Given the description of an element on the screen output the (x, y) to click on. 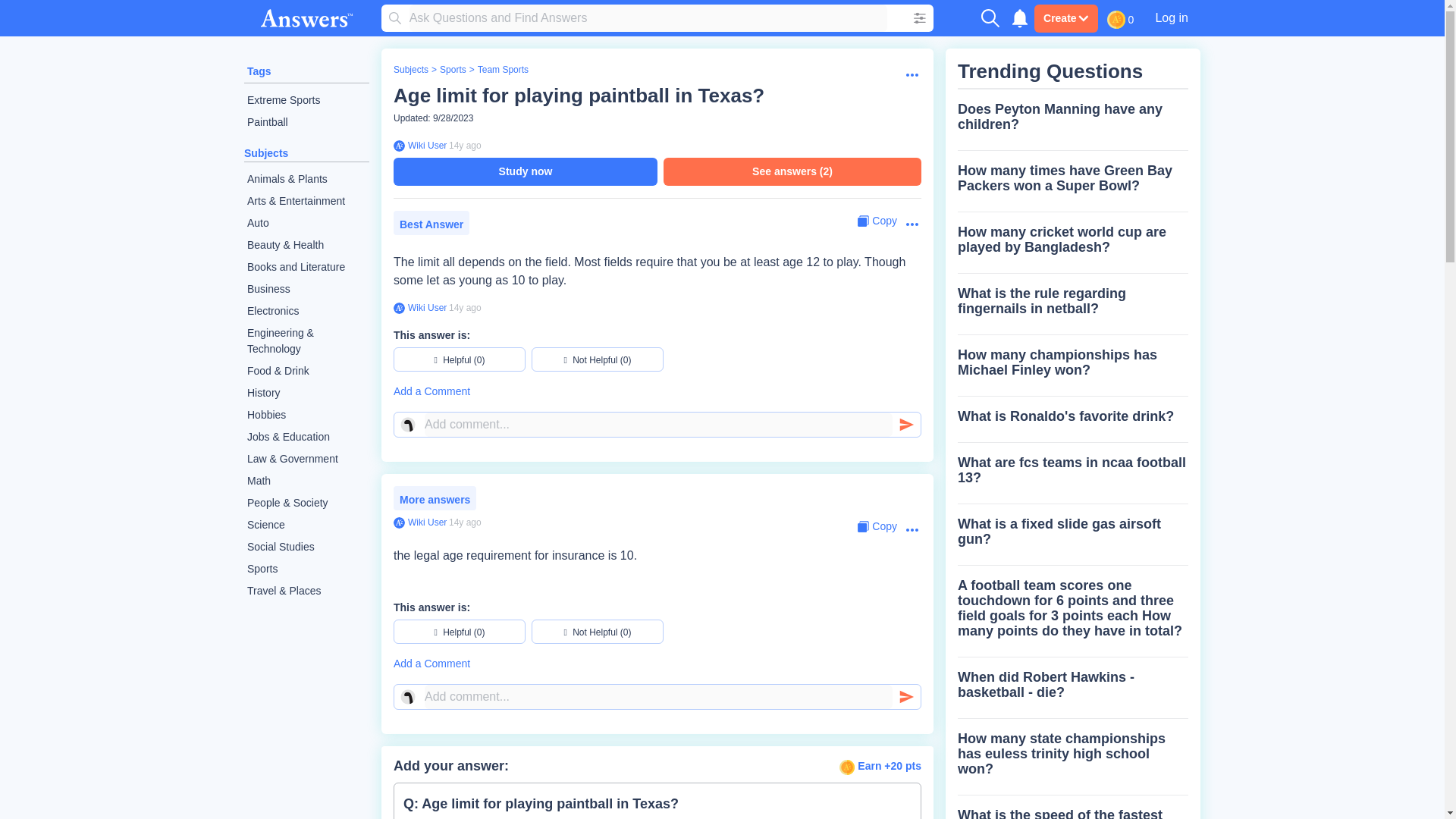
Science (306, 525)
Create (1065, 18)
Social Studies (306, 546)
2010-06-02 22:22:25 (464, 521)
Subjects (410, 69)
History (306, 393)
Sports (452, 69)
Sports (306, 568)
Tags (258, 70)
Auto (306, 223)
Age limit for playing paintball in Texas? (578, 95)
Extreme Sports (306, 100)
Subjects (266, 152)
Math (306, 481)
Study now (525, 171)
